Given the description of an element on the screen output the (x, y) to click on. 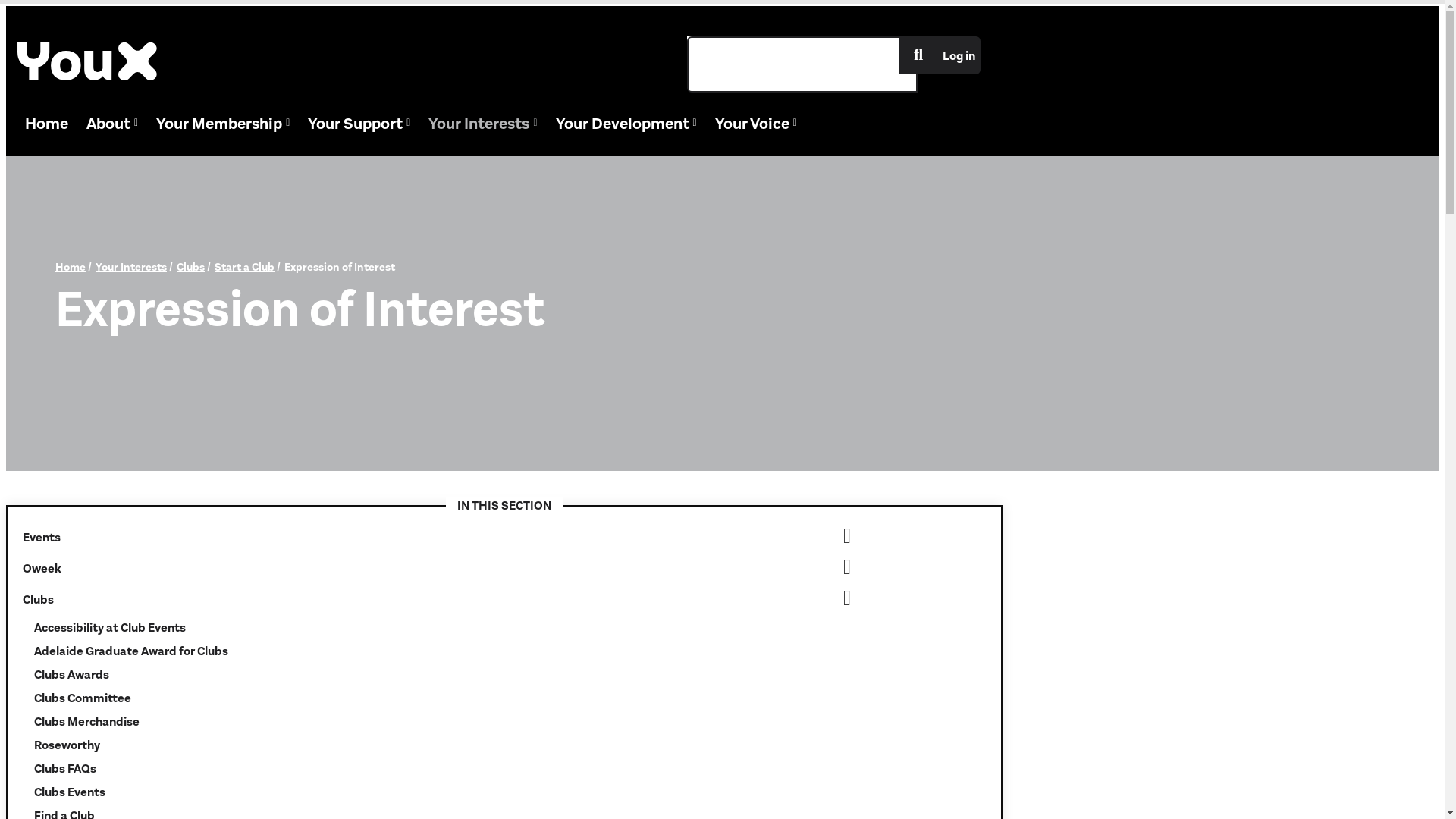
Events Element type: text (431, 536)
Home Element type: text (46, 124)
Accessibility at Club Events Element type: text (419, 627)
Start a Club Element type: text (244, 267)
About Element type: text (111, 124)
Log in Element type: text (958, 55)
Your Interests Element type: text (482, 124)
Adelaide Graduate Award for Clubs Element type: text (419, 650)
Clubs Element type: text (190, 267)
Search Element type: text (918, 54)
Clubs FAQs Element type: text (419, 768)
Roseworthy Element type: text (419, 744)
Clubs Events Element type: text (419, 791)
Oweek Element type: text (431, 567)
Clubs Element type: text (431, 599)
Your Voice Element type: text (755, 124)
Clubs Awards Element type: text (419, 674)
Your Support Element type: text (358, 124)
Your Interests Element type: text (130, 267)
Clubs Committee Element type: text (419, 697)
Your Membership Element type: text (222, 124)
Clubs Merchandise Element type: text (419, 721)
Home Element type: text (70, 267)
Your Development Element type: text (625, 124)
